Given the description of an element on the screen output the (x, y) to click on. 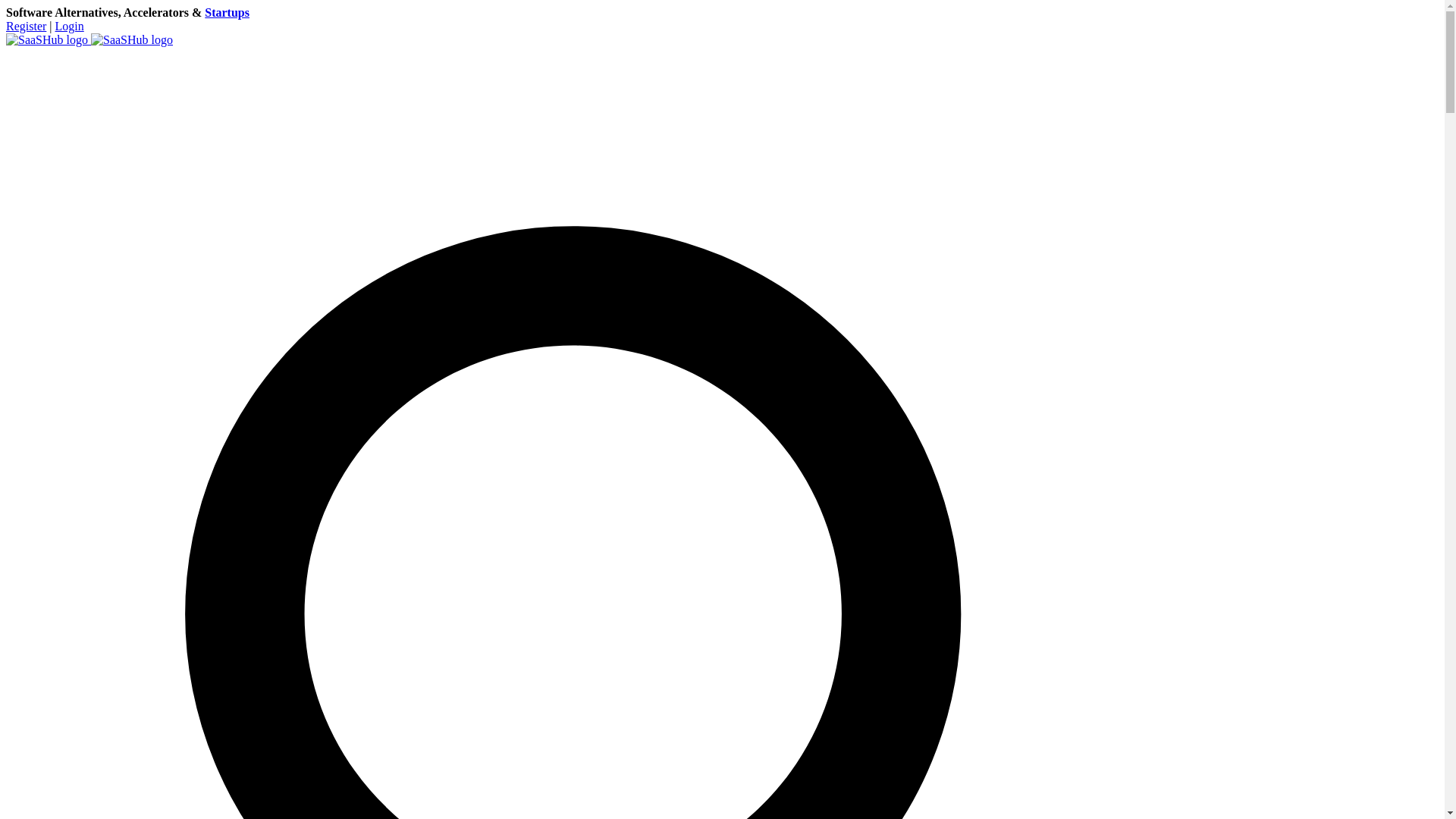
Register (25, 25)
Login (69, 25)
Startups (226, 11)
